Given the description of an element on the screen output the (x, y) to click on. 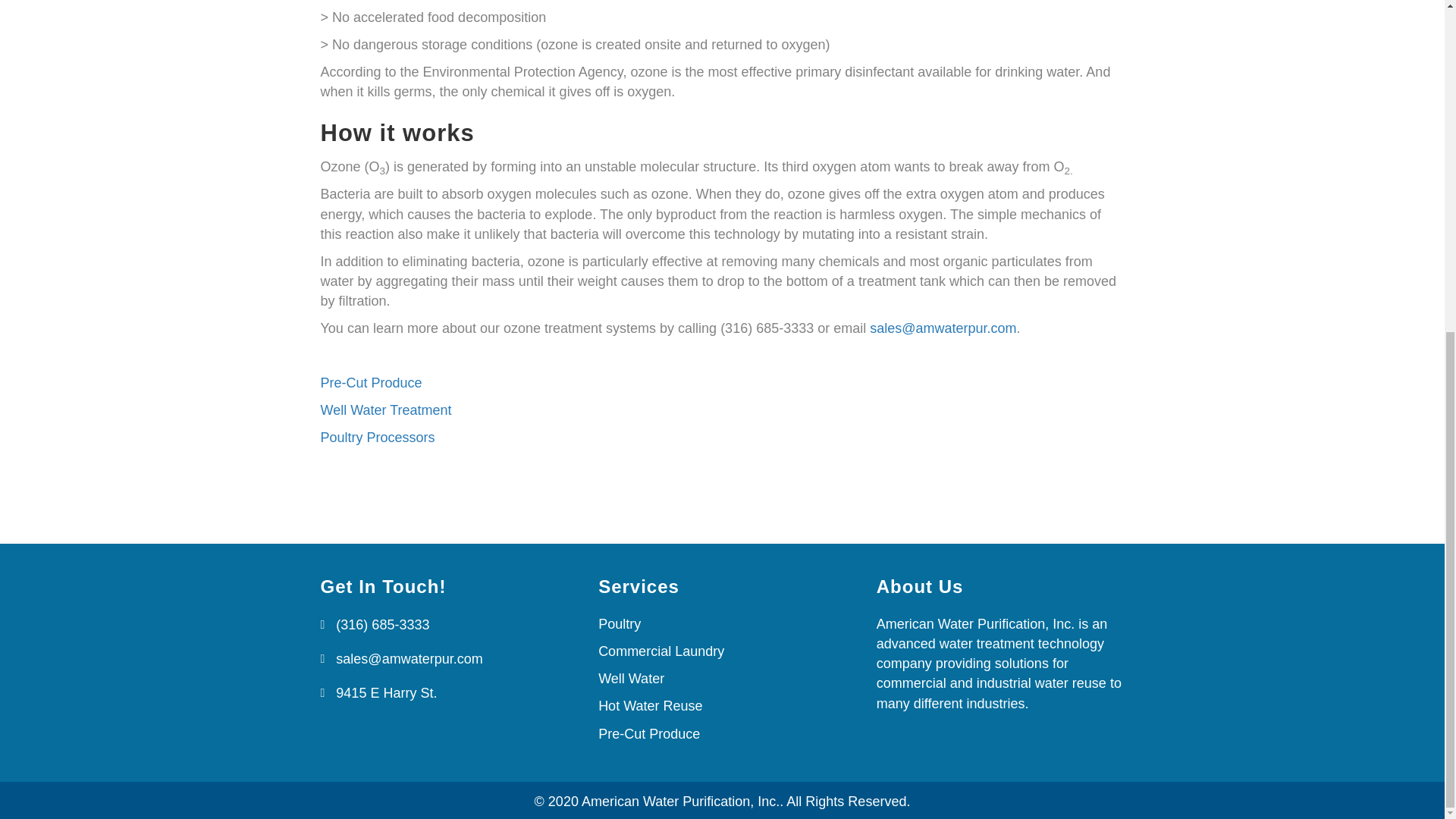
Pre-Cut Produce (371, 382)
Poultry Processors (376, 437)
Well Water Treatment (385, 409)
Poultry (619, 623)
Pre-Cut Produce (649, 734)
9415 E Harry St. (386, 692)
Email AWPI (942, 328)
Commercial Laundry (660, 651)
Hot Water Reuse (649, 705)
Well Water (630, 678)
